Given the description of an element on the screen output the (x, y) to click on. 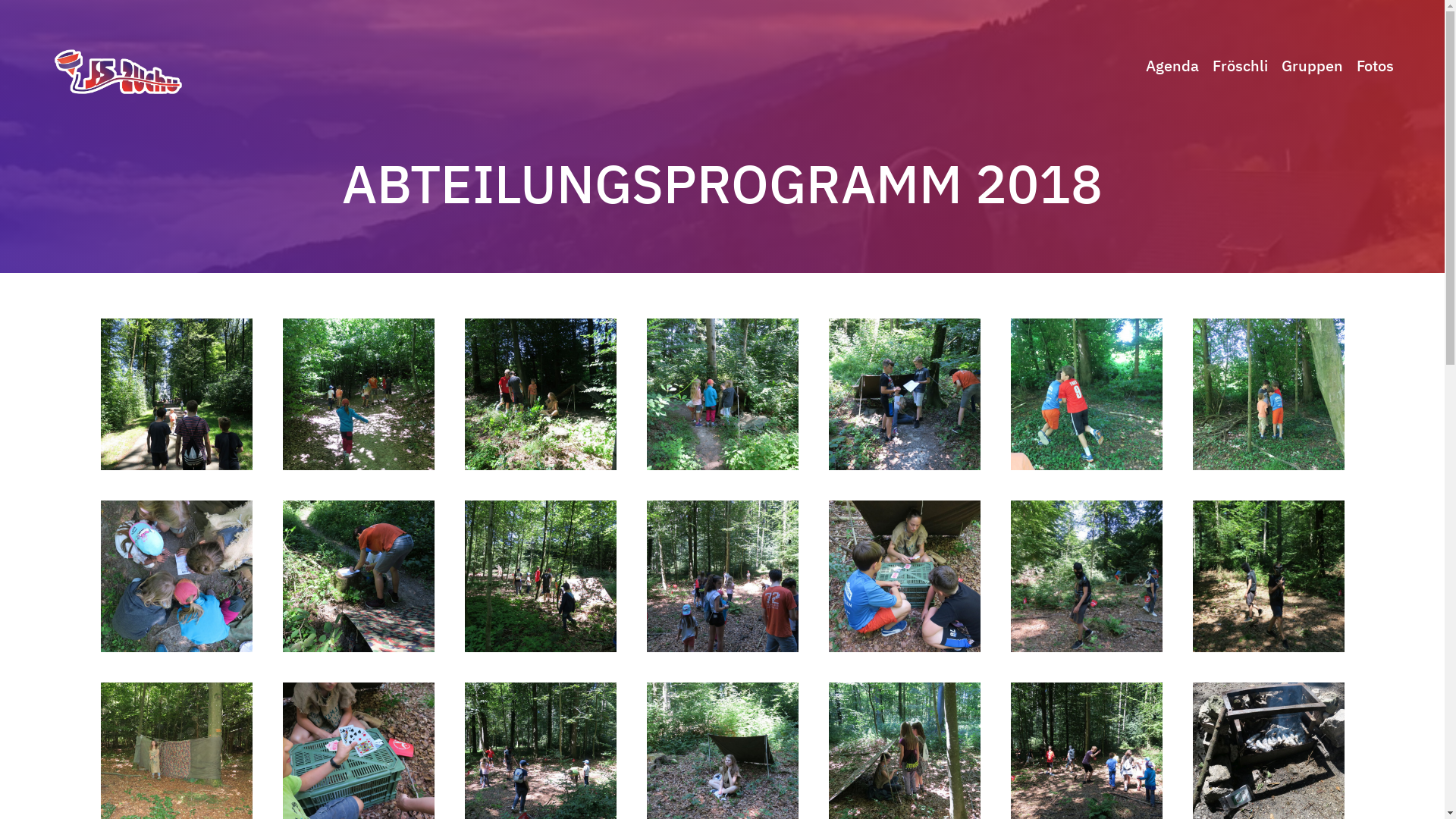
Gruppen Element type: text (1312, 65)
Fotos Element type: text (1374, 65)
Agenda Element type: text (1171, 65)
